Given the description of an element on the screen output the (x, y) to click on. 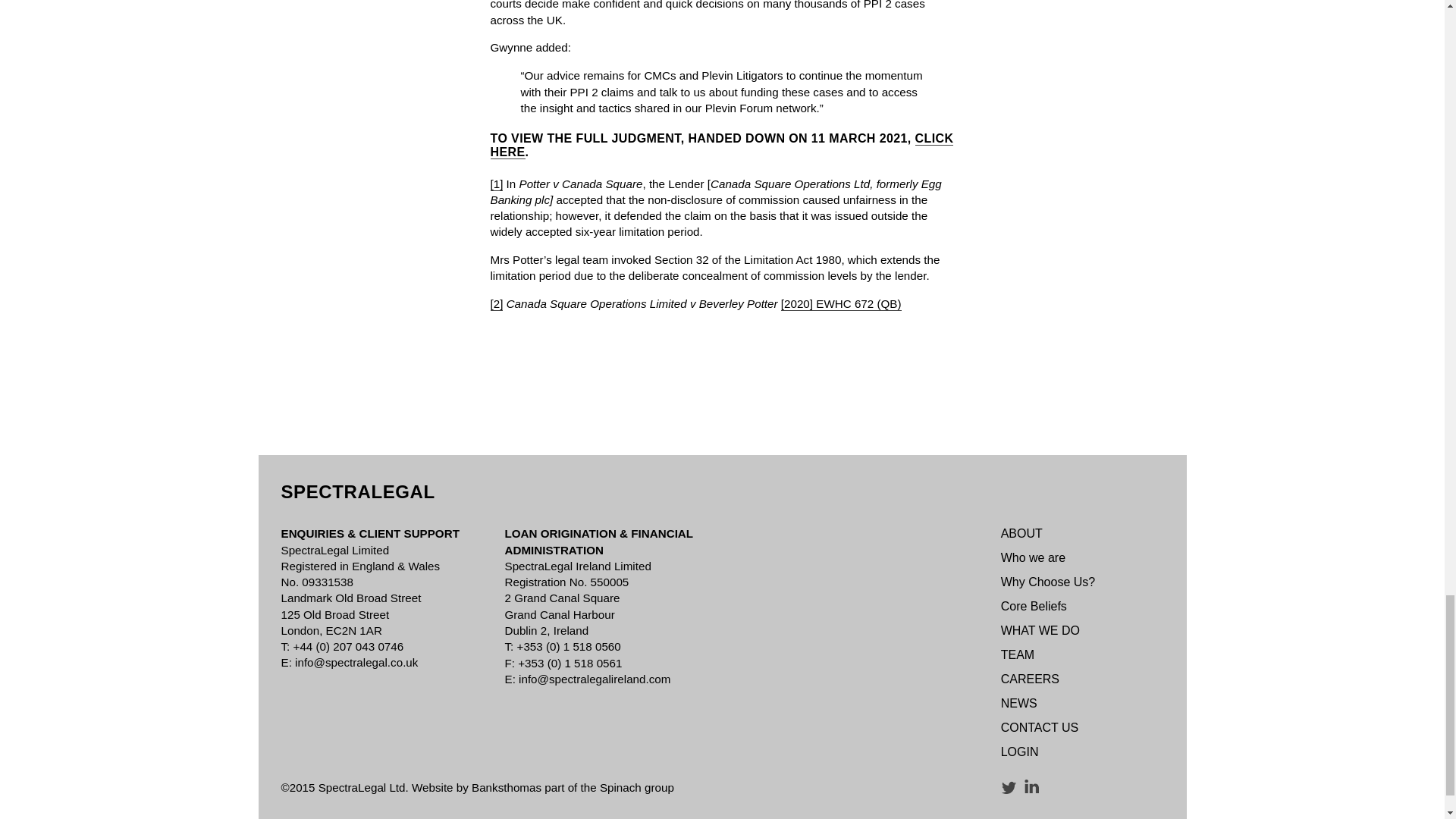
Who we are (1033, 557)
ABOUT (1021, 533)
Core Beliefs (1034, 605)
WHAT WE DO (1040, 630)
CLICK HERE (721, 144)
Why Choose Us? (1048, 581)
